Given the description of an element on the screen output the (x, y) to click on. 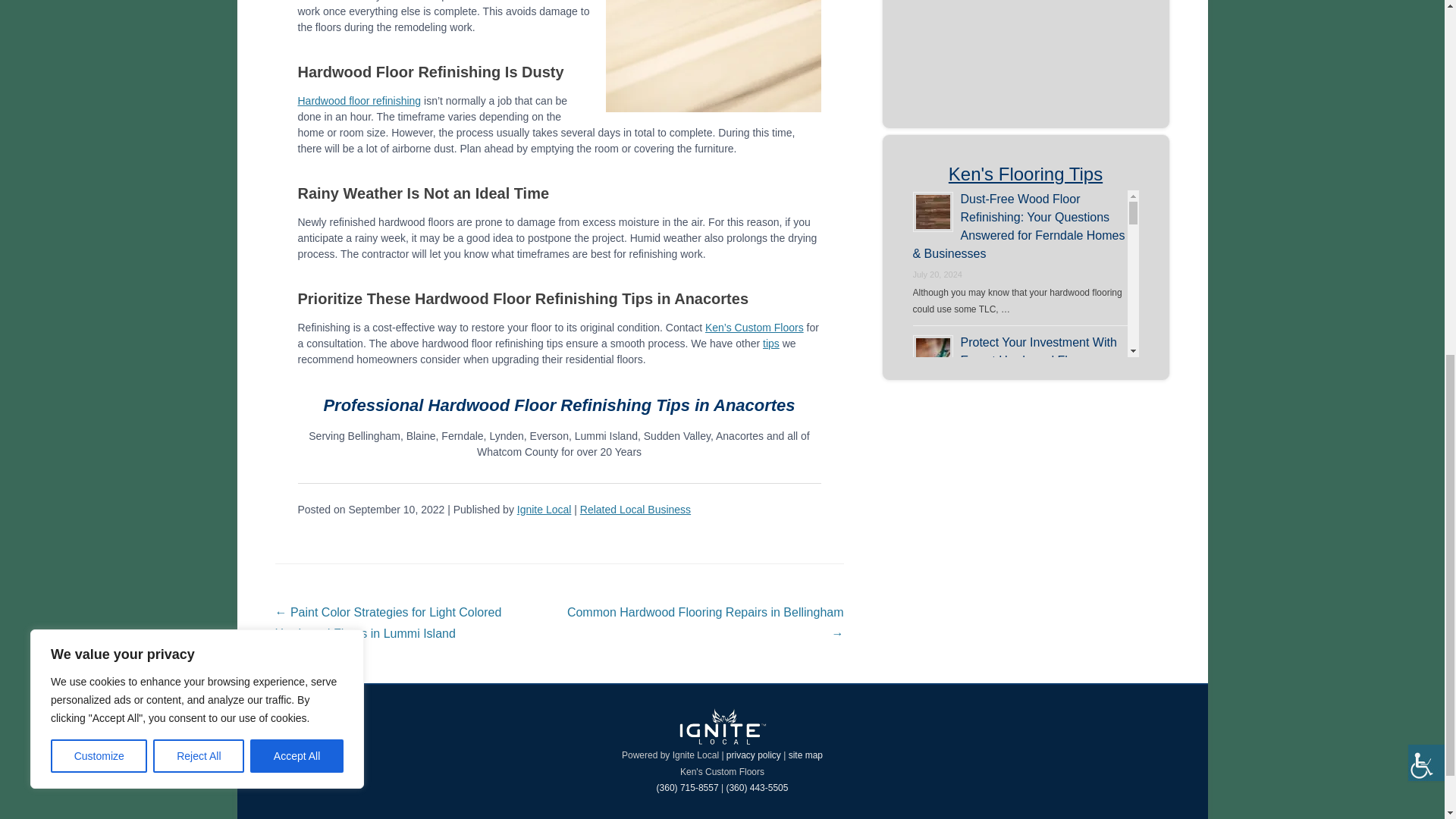
Customize (98, 87)
Accept All (296, 87)
Reject All (198, 87)
